Given the description of an element on the screen output the (x, y) to click on. 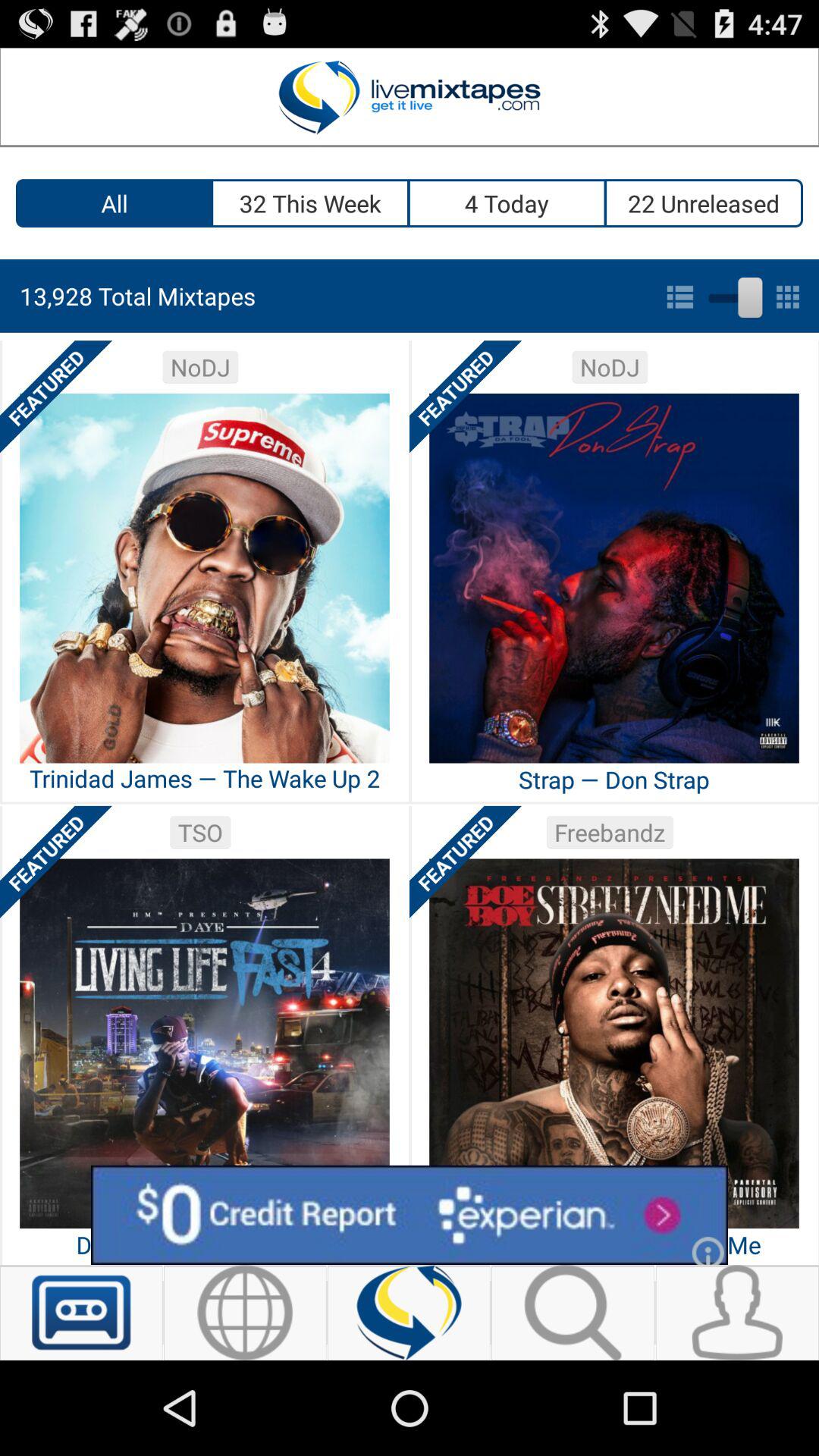
view advertisement (409, 1214)
